Given the description of an element on the screen output the (x, y) to click on. 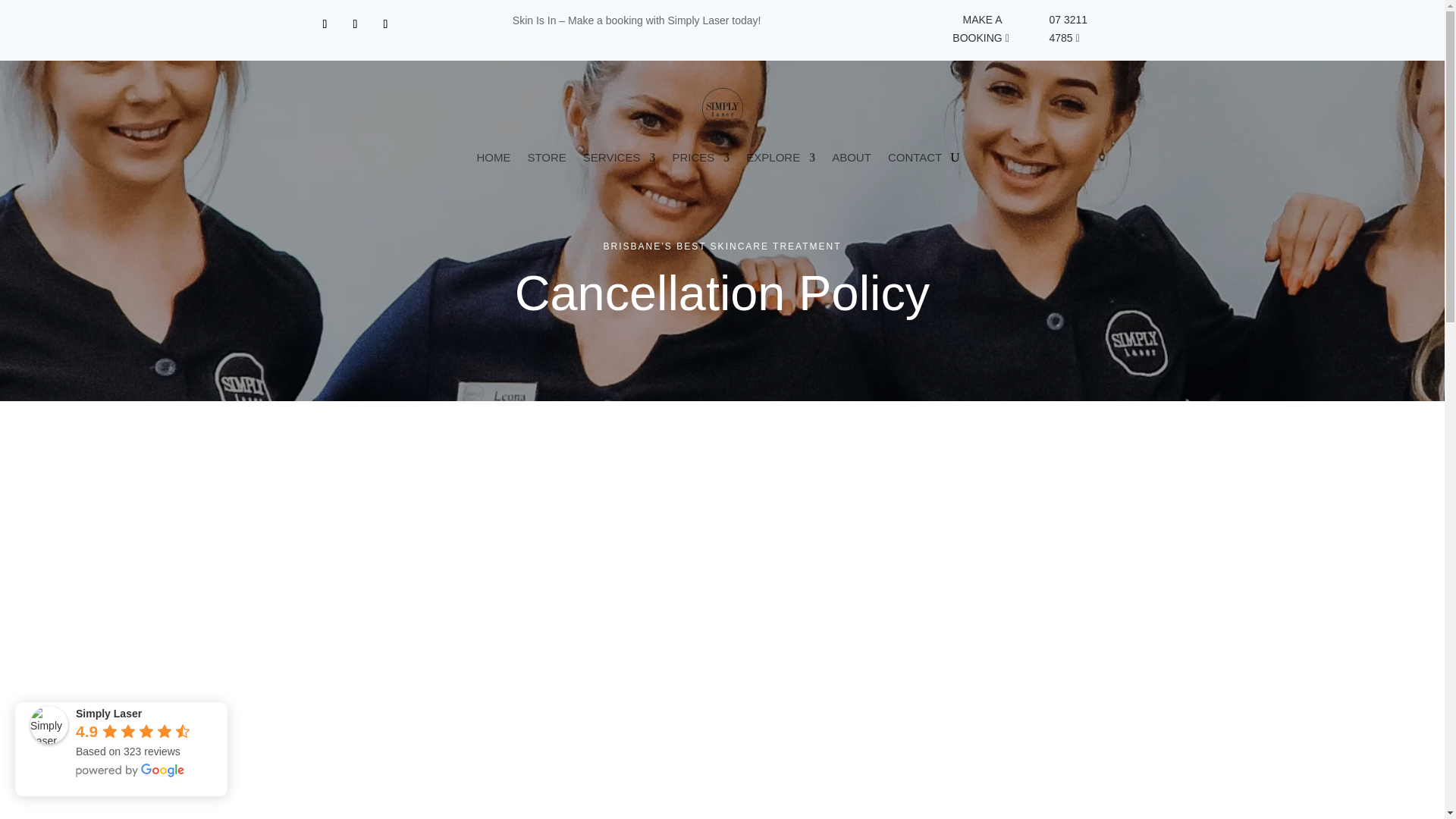
EXPLORE (780, 157)
Follow on Instagram (354, 24)
Follow on Facebook (324, 24)
powered by Google (129, 770)
MAKE A BOOKING (966, 29)
Simply Laser (49, 724)
07 3211 4785 (1086, 29)
SERVICES (619, 157)
Chat on Messenger (384, 24)
PRICES (700, 157)
